Given the description of an element on the screen output the (x, y) to click on. 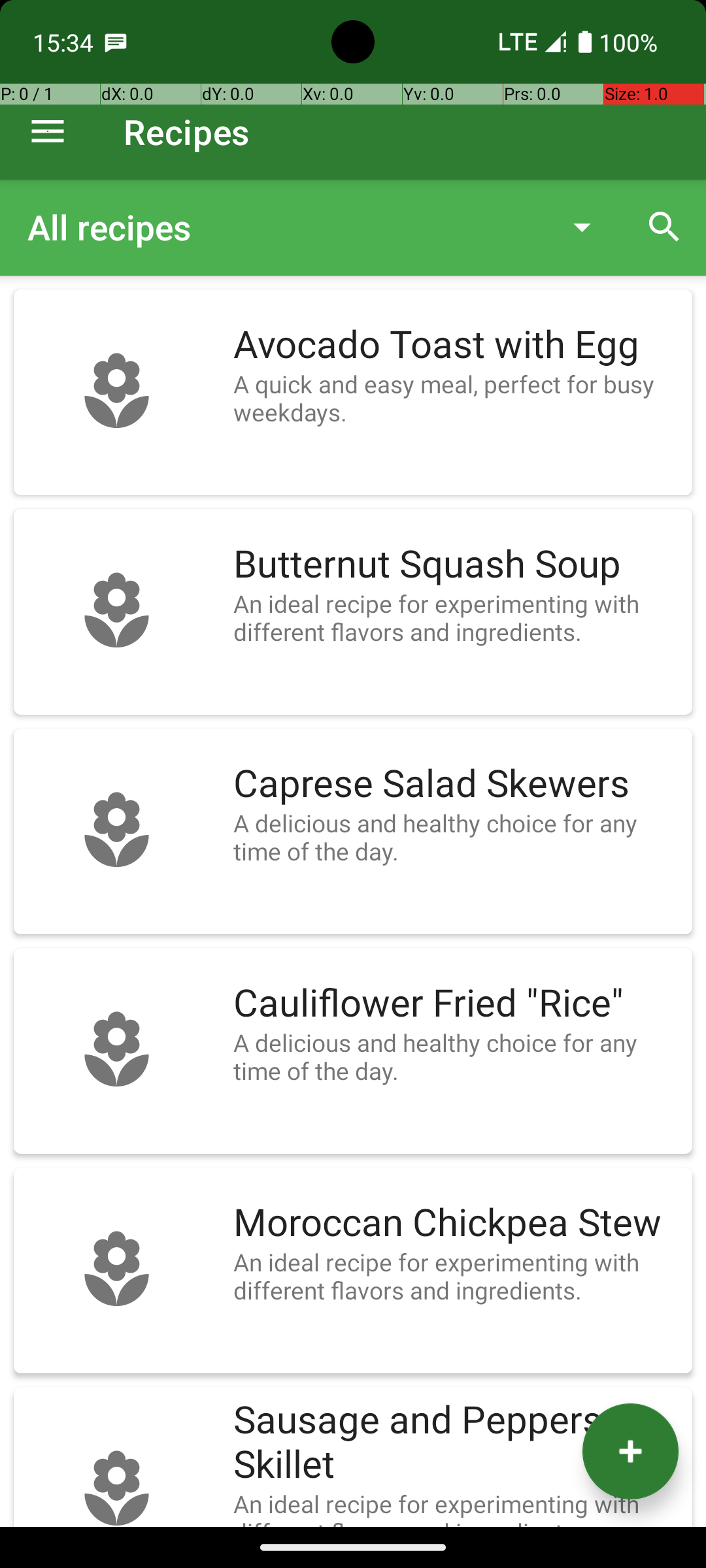
Sausage and Peppers Skillet Element type: android.widget.TextView (455, 1442)
